Given the description of an element on the screen output the (x, y) to click on. 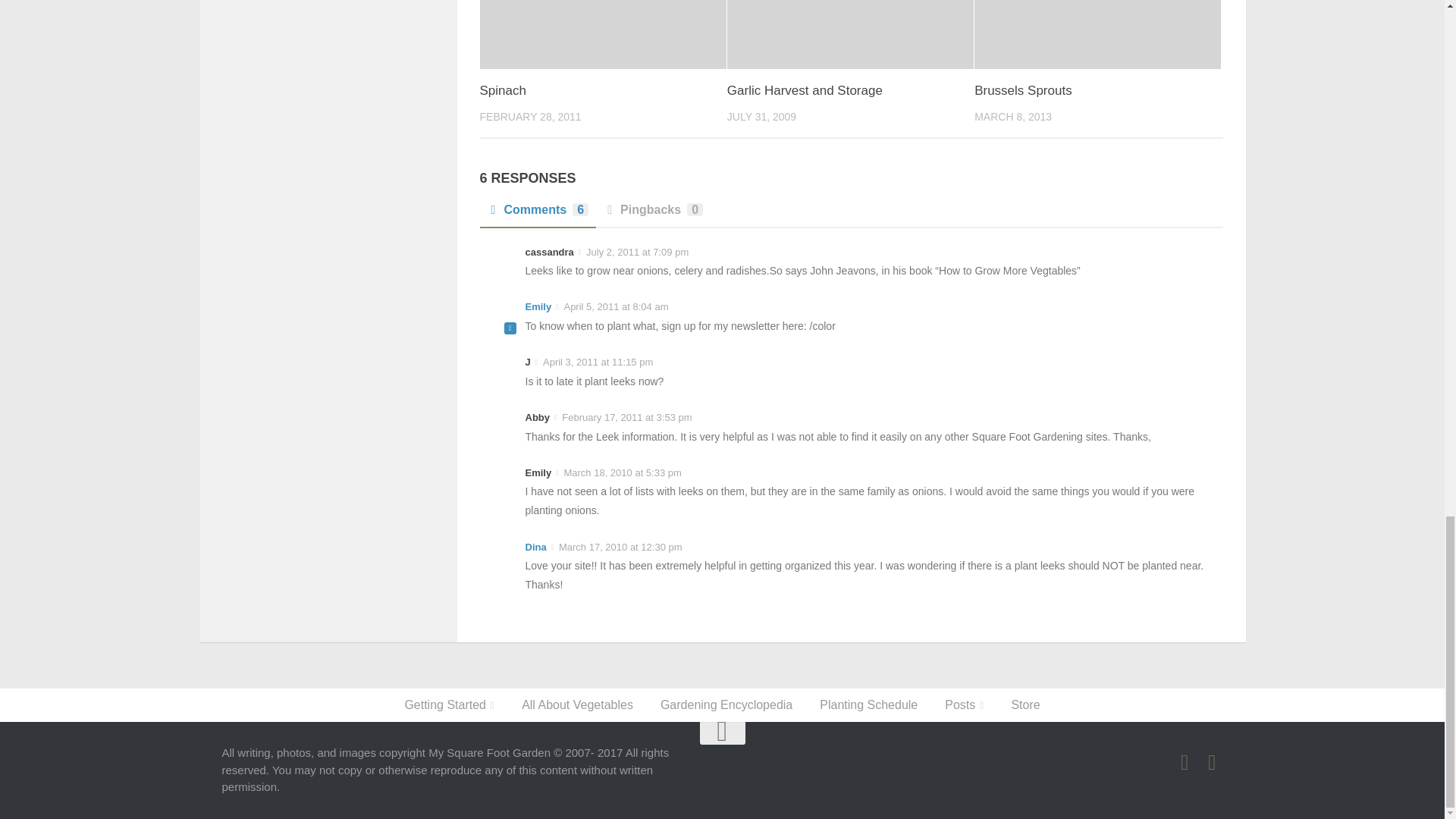
Garlic Harvest and Storage (850, 34)
Spinach (602, 34)
Spinach (502, 90)
Garlic Harvest and Storage (804, 90)
Brussels Sprouts (1022, 90)
Spinach (502, 90)
Brussels Sprouts (1022, 90)
Brussels Sprouts (1097, 34)
Garlic Harvest and Storage (804, 90)
